Given the description of an element on the screen output the (x, y) to click on. 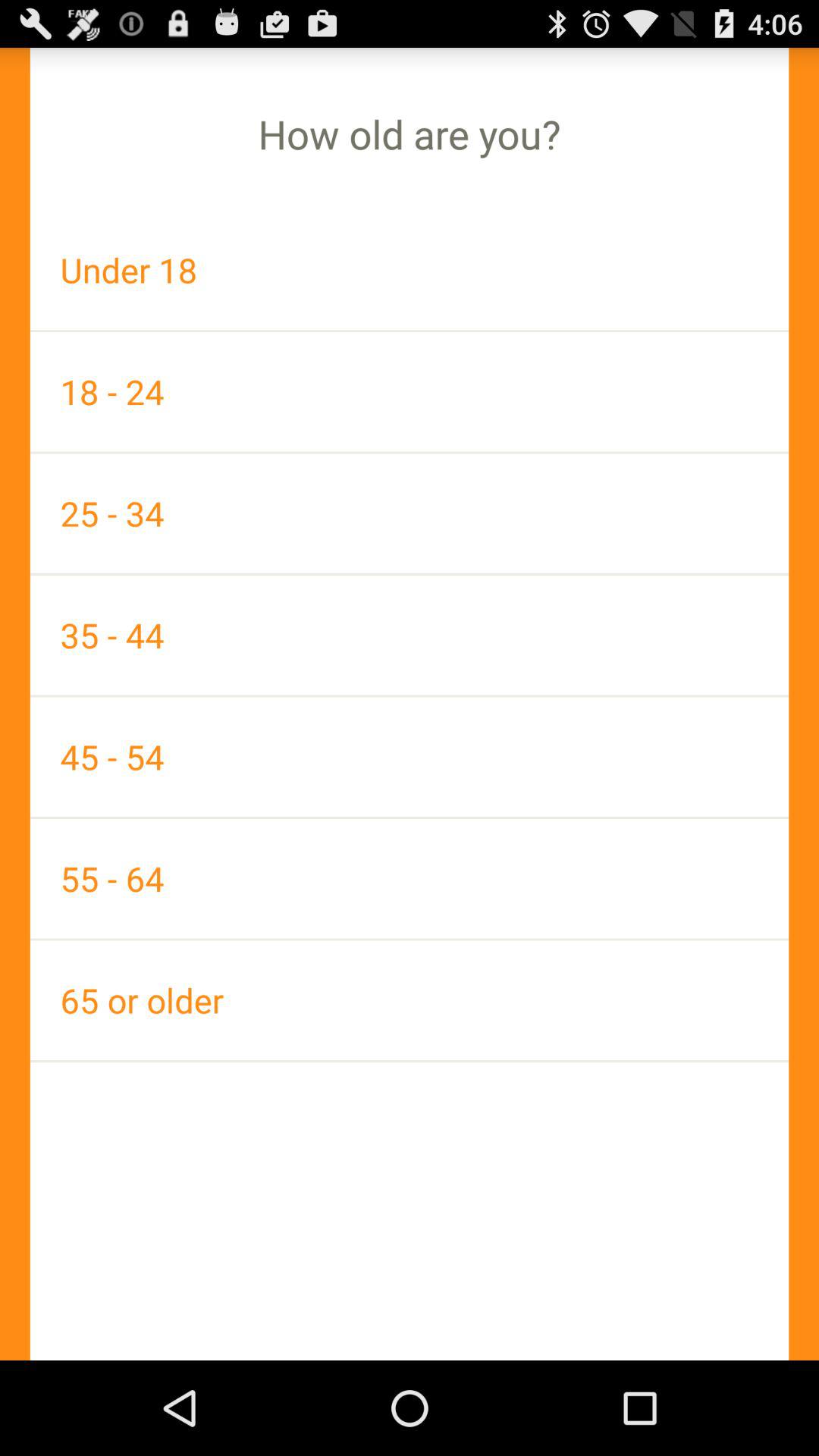
open the item below the 25 - 34 app (409, 635)
